Given the description of an element on the screen output the (x, y) to click on. 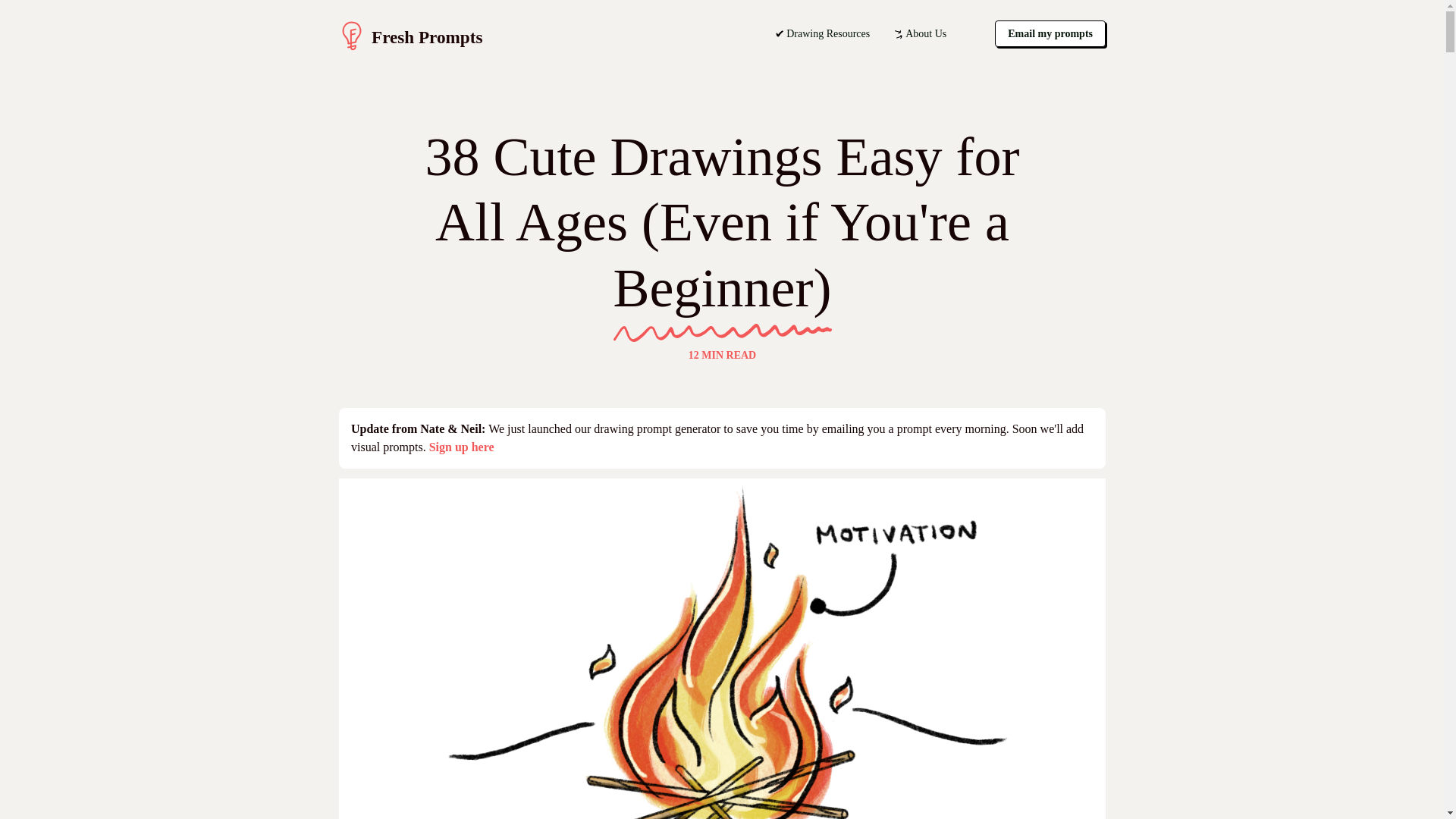
About Us (919, 33)
Drawing Resources (822, 33)
Fresh Prompts (557, 36)
Sign up here (462, 446)
Email my prompts (1049, 33)
